Given the description of an element on the screen output the (x, y) to click on. 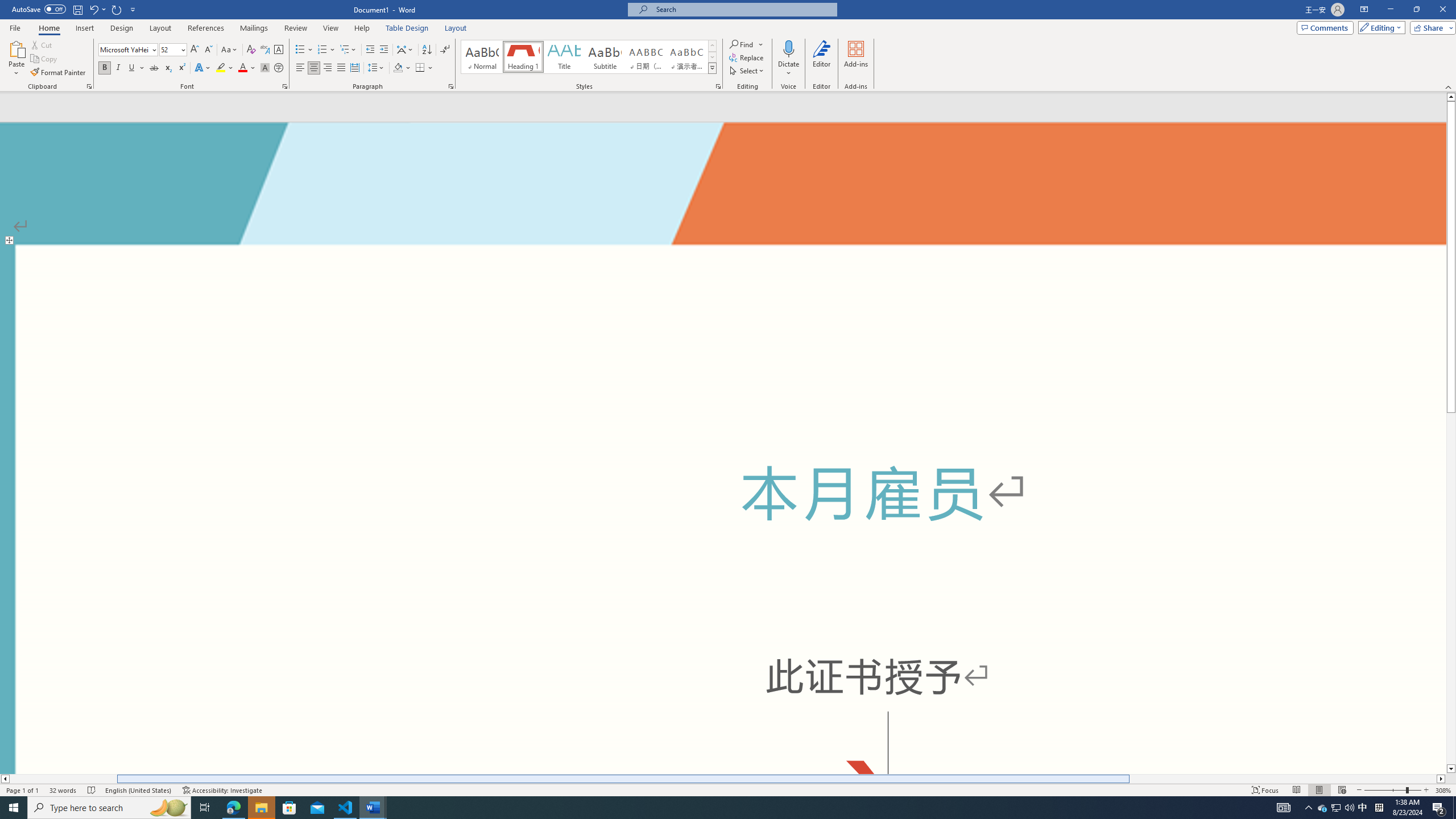
Repeat Typing (117, 9)
Shrink Font (208, 49)
Character Border (278, 49)
Undo Typing (96, 9)
Select (747, 69)
Align Right (327, 67)
Text Effects and Typography (202, 67)
